Given the description of an element on the screen output the (x, y) to click on. 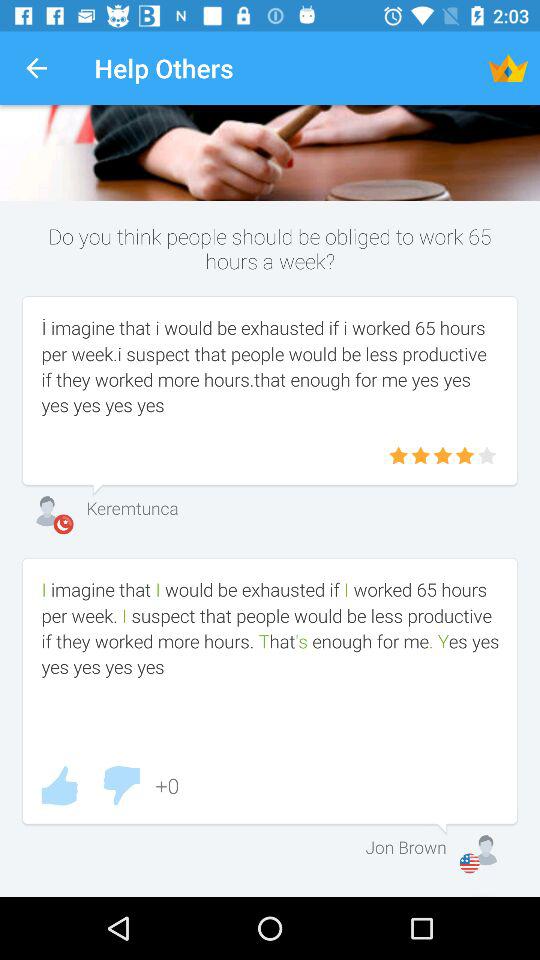
thumbs down/ dislike (121, 785)
